Given the description of an element on the screen output the (x, y) to click on. 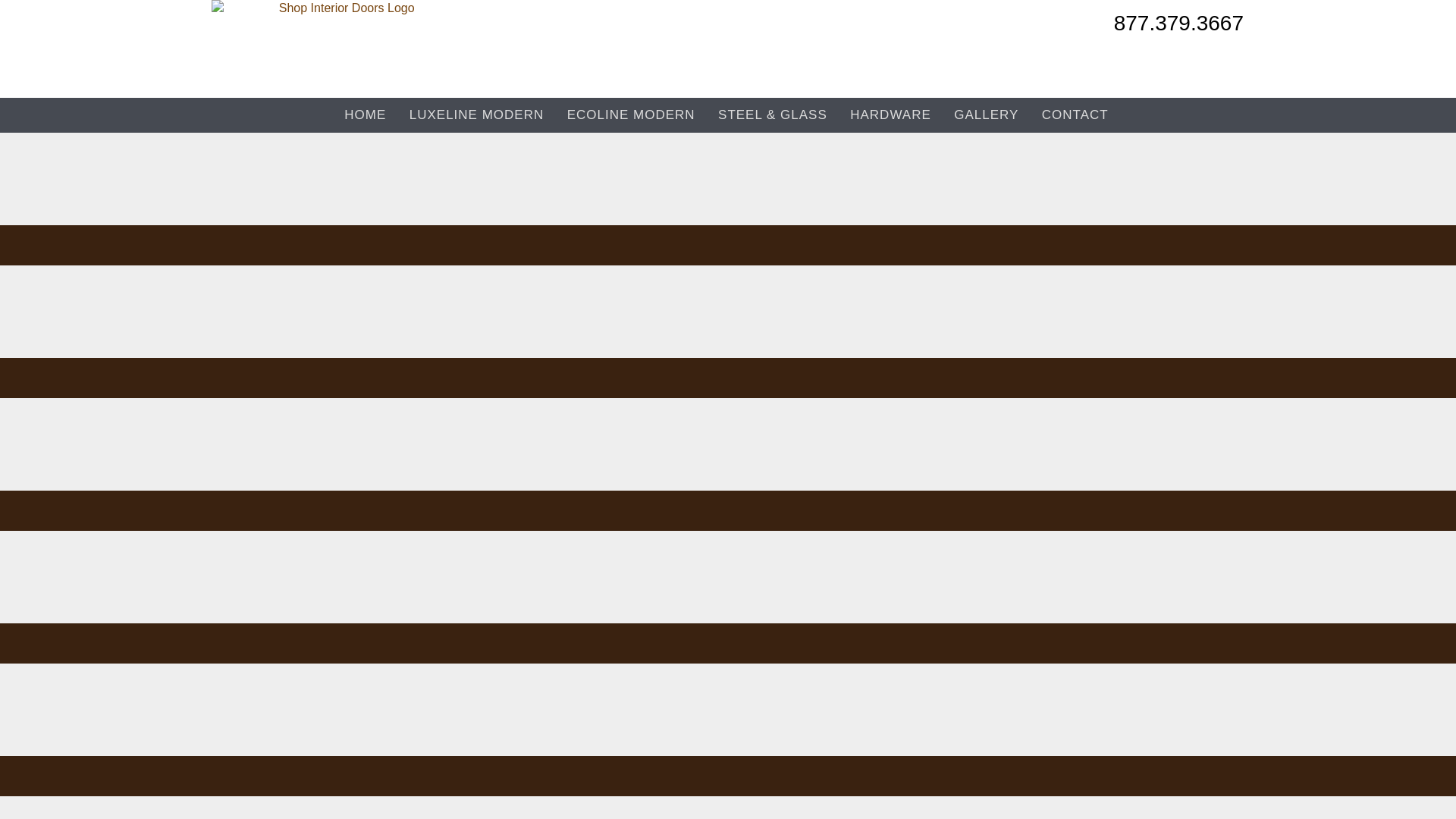
LUXELINE MODERN (475, 114)
HOME (365, 114)
CONTACT (1074, 114)
ECOLINE MODERN (631, 114)
877.379.3667 (1178, 27)
GALLERY (985, 114)
HARDWARE (890, 114)
